Given the description of an element on the screen output the (x, y) to click on. 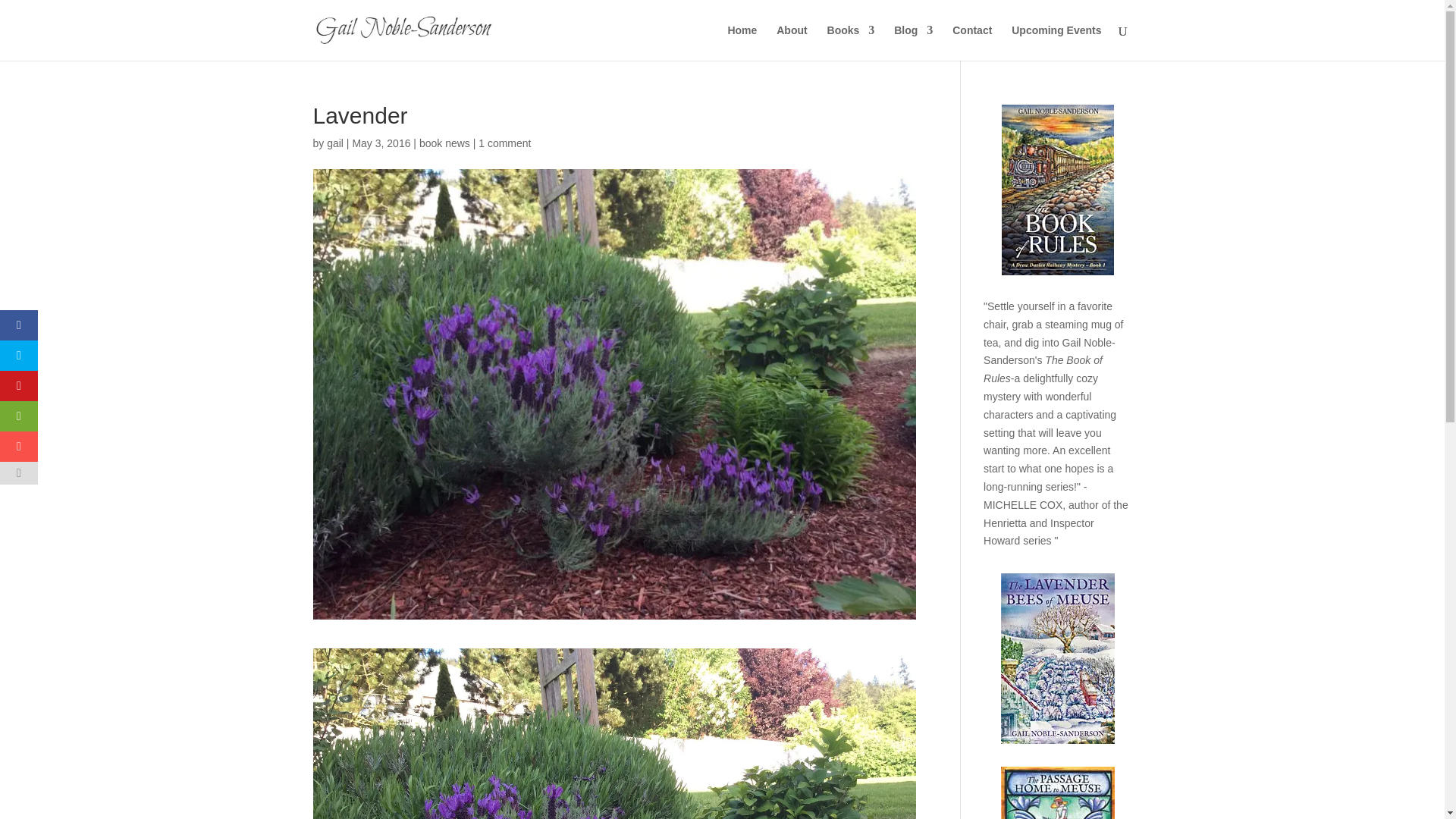
book news (444, 143)
Posts by gail (334, 143)
gail (334, 143)
1 comment (505, 143)
Books (851, 42)
Blog (913, 42)
Contact (971, 42)
Upcoming Events (1055, 42)
